Given the description of an element on the screen output the (x, y) to click on. 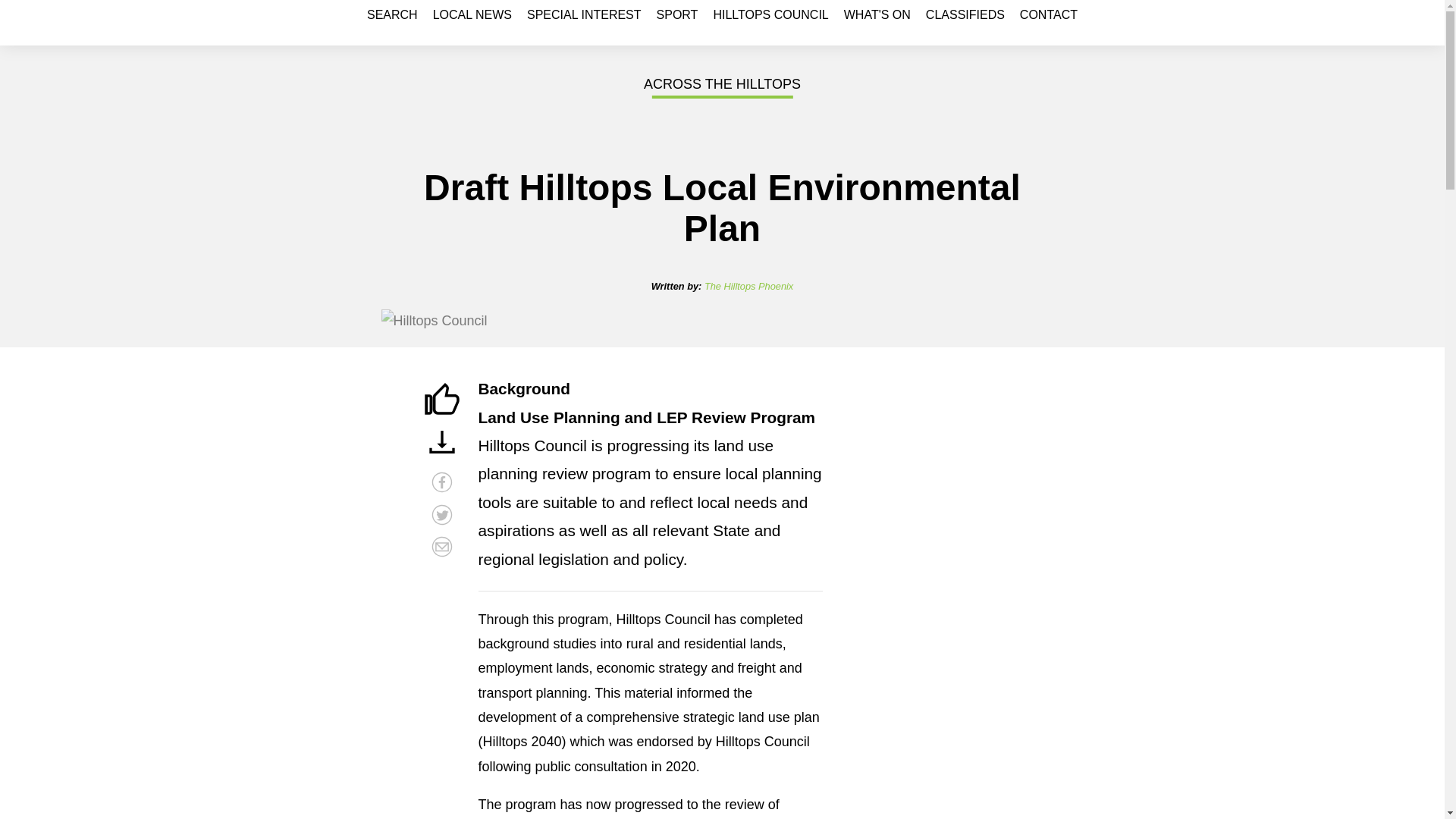
WHAT'S ON Element type: text (877, 14)
The Hilltops Phoenix Element type: text (748, 285)
SEARCH Element type: text (392, 14)
ACROSS THE HILLTOPS Element type: text (721, 83)
CLASSIFIEDS Element type: text (964, 14)
